Given the description of an element on the screen output the (x, y) to click on. 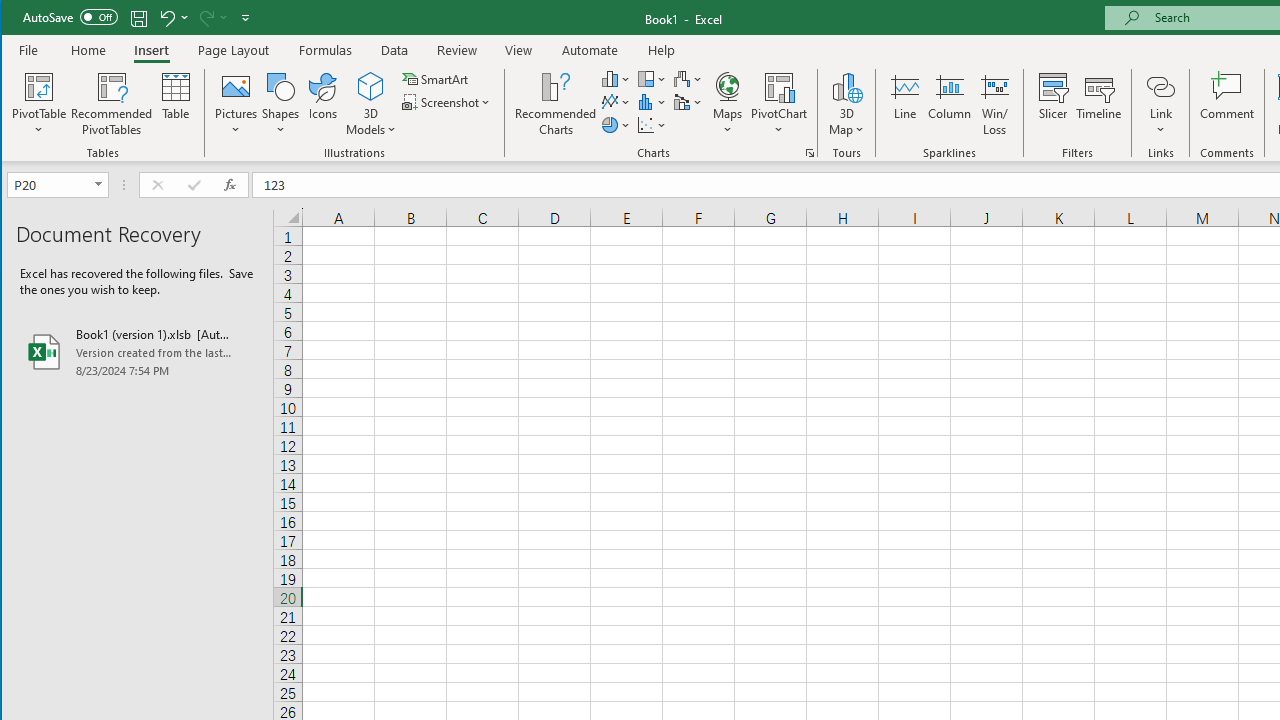
3D Models (371, 86)
PivotTable (39, 104)
Insert Scatter (X, Y) or Bubble Chart (652, 124)
Win/Loss (995, 104)
PivotChart (779, 86)
Insert Statistic Chart (652, 101)
Link (1160, 104)
